Given the description of an element on the screen output the (x, y) to click on. 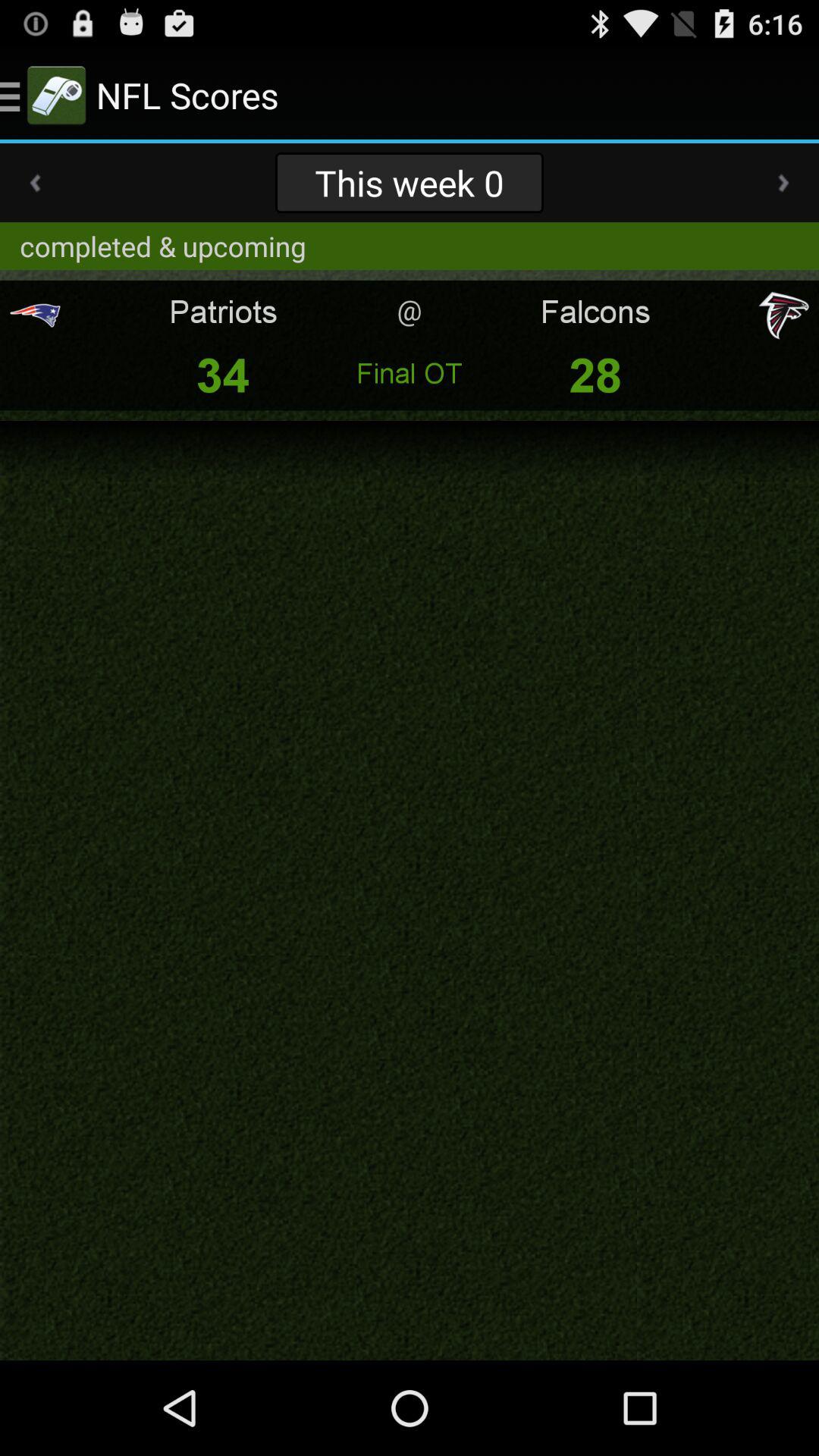
press app below nfl scores item (409, 182)
